Given the description of an element on the screen output the (x, y) to click on. 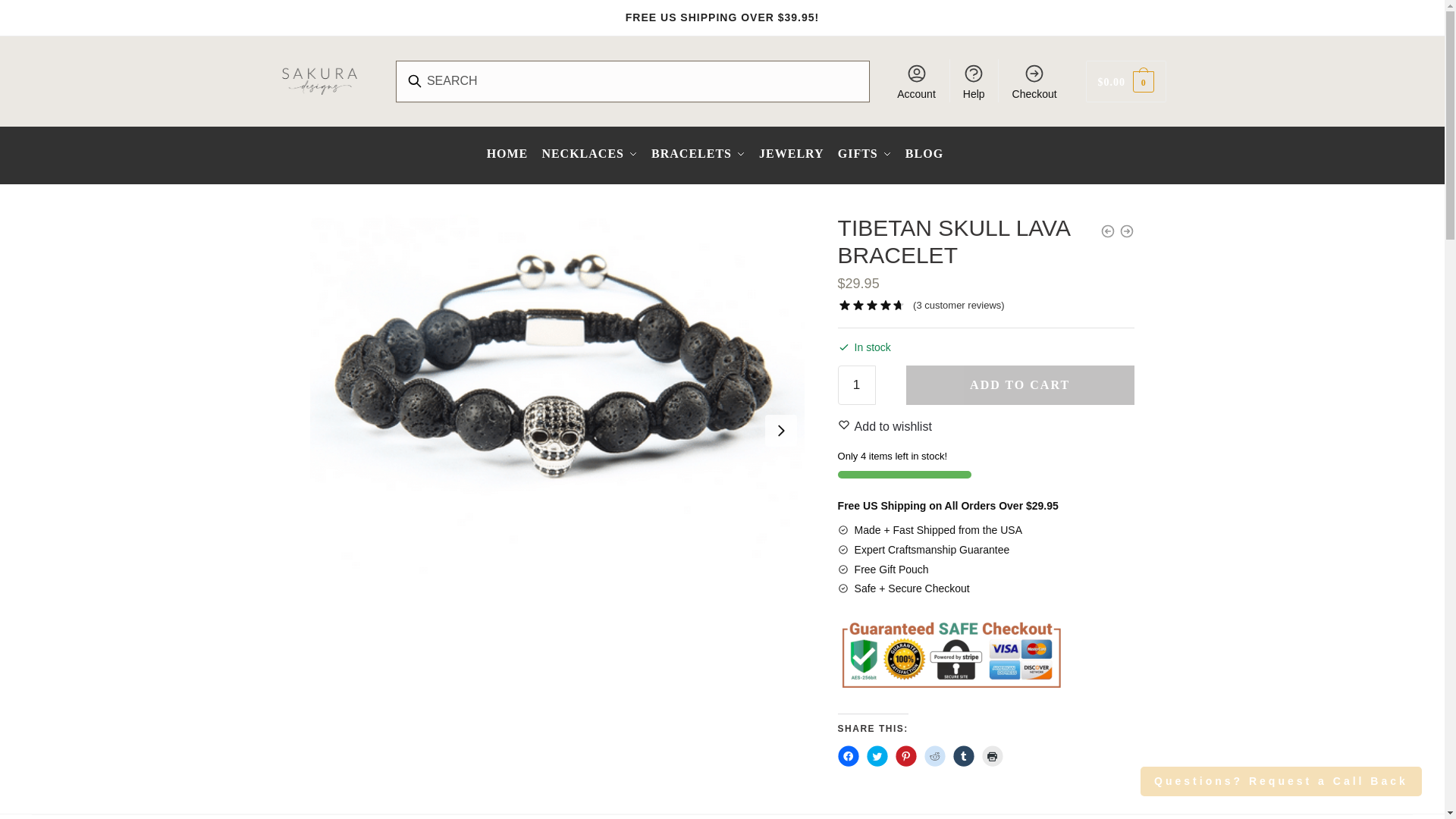
Checkout (1034, 80)
BLOG (924, 153)
NECKLACES (590, 153)
Mala Bracelets (698, 153)
Account (916, 80)
Accessories (864, 153)
Search (429, 70)
BRACELETS (698, 153)
JEWELRY (790, 153)
